Given the description of an element on the screen output the (x, y) to click on. 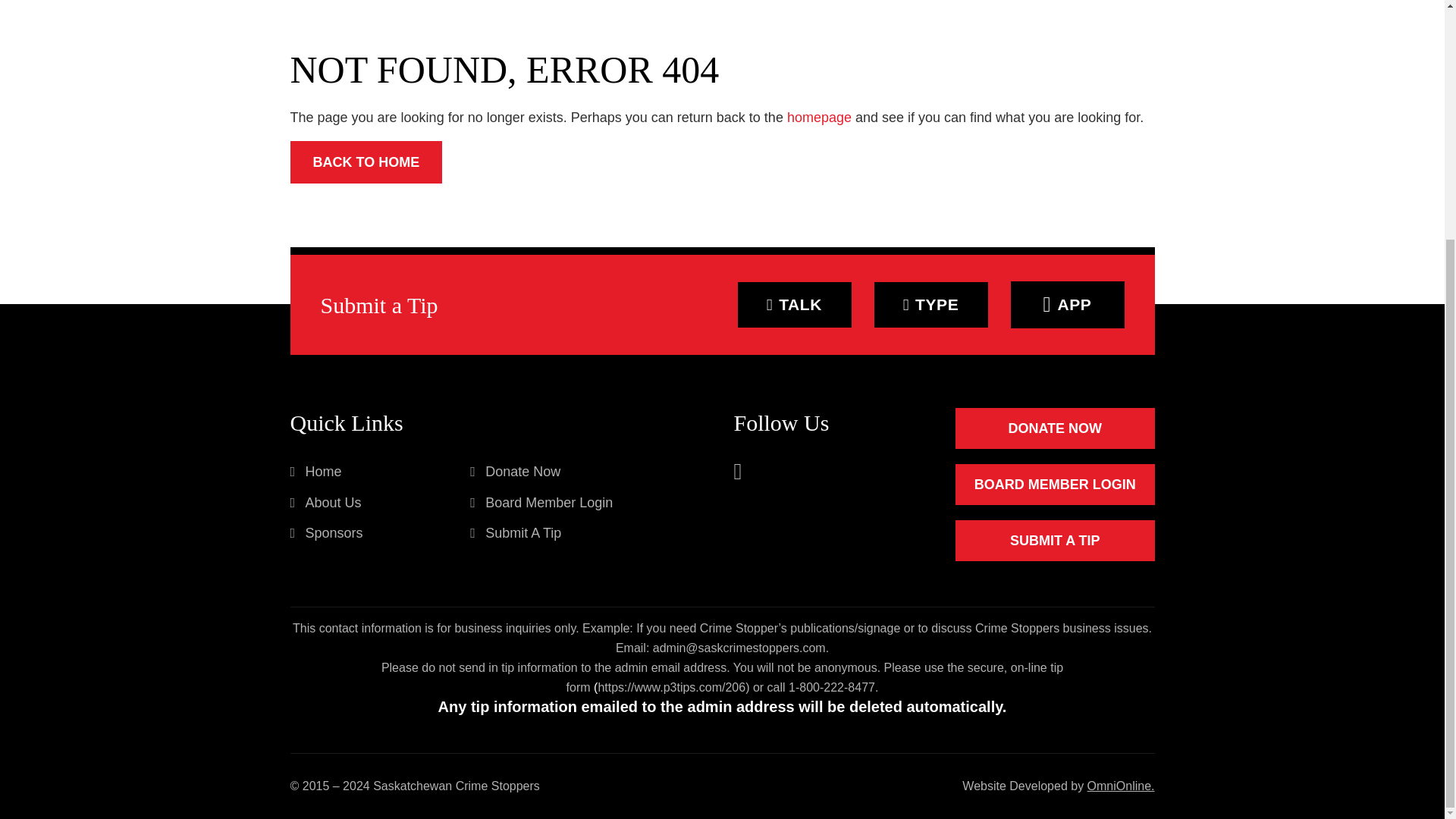
Donate Now (515, 471)
TALK (793, 304)
SUBMIT A TIP (1054, 540)
homepage (819, 117)
OmniOnline. (1120, 785)
DONATE NOW (1054, 427)
Board Member Login (541, 502)
Sponsors (325, 532)
Home (314, 471)
APP (1067, 304)
About Us (325, 502)
BACK TO HOME (365, 161)
TYPE (930, 304)
1-800-222-8477 (832, 686)
Submit A Tip (515, 532)
